Given the description of an element on the screen output the (x, y) to click on. 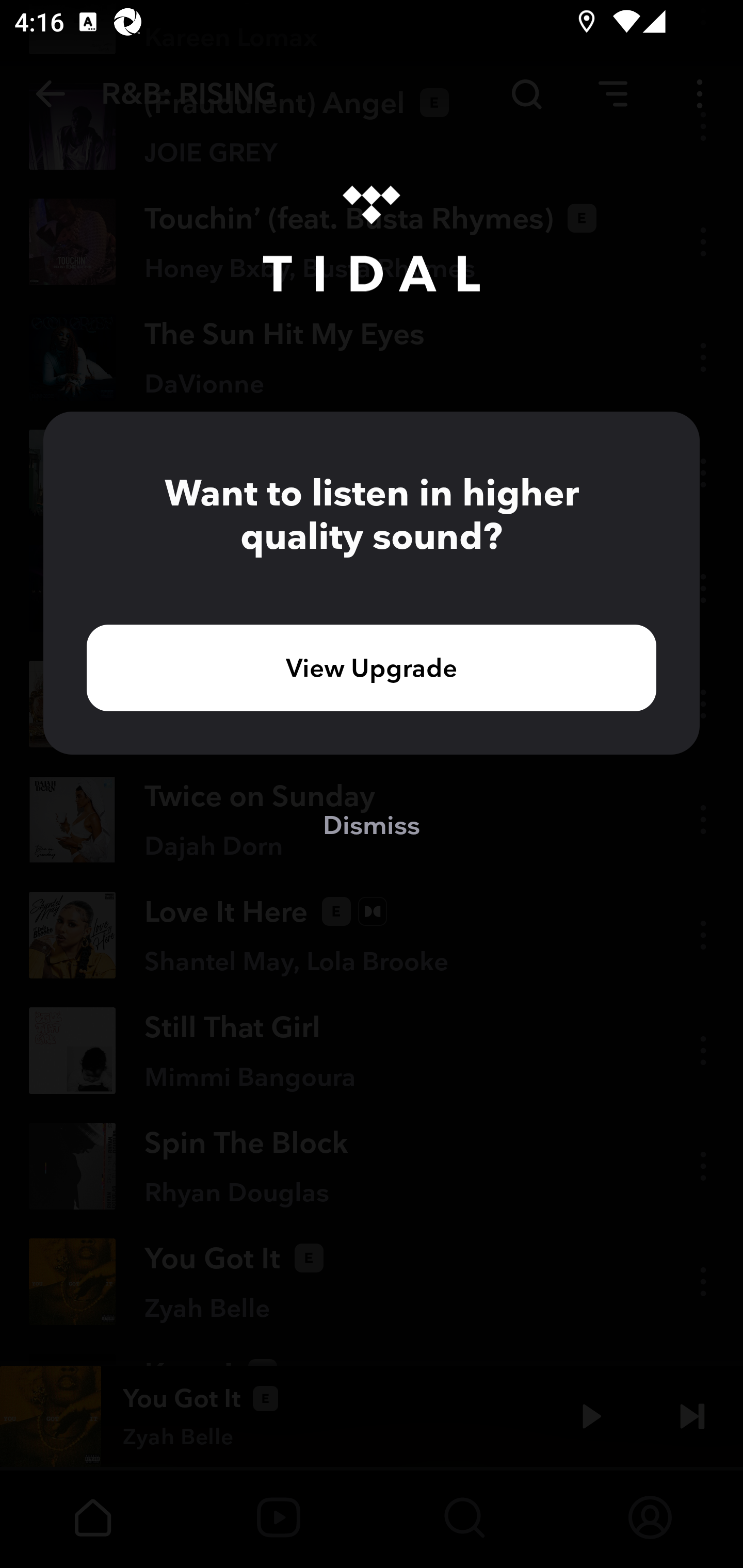
View Upgrade (371, 667)
Dismiss (371, 824)
